Given the description of an element on the screen output the (x, y) to click on. 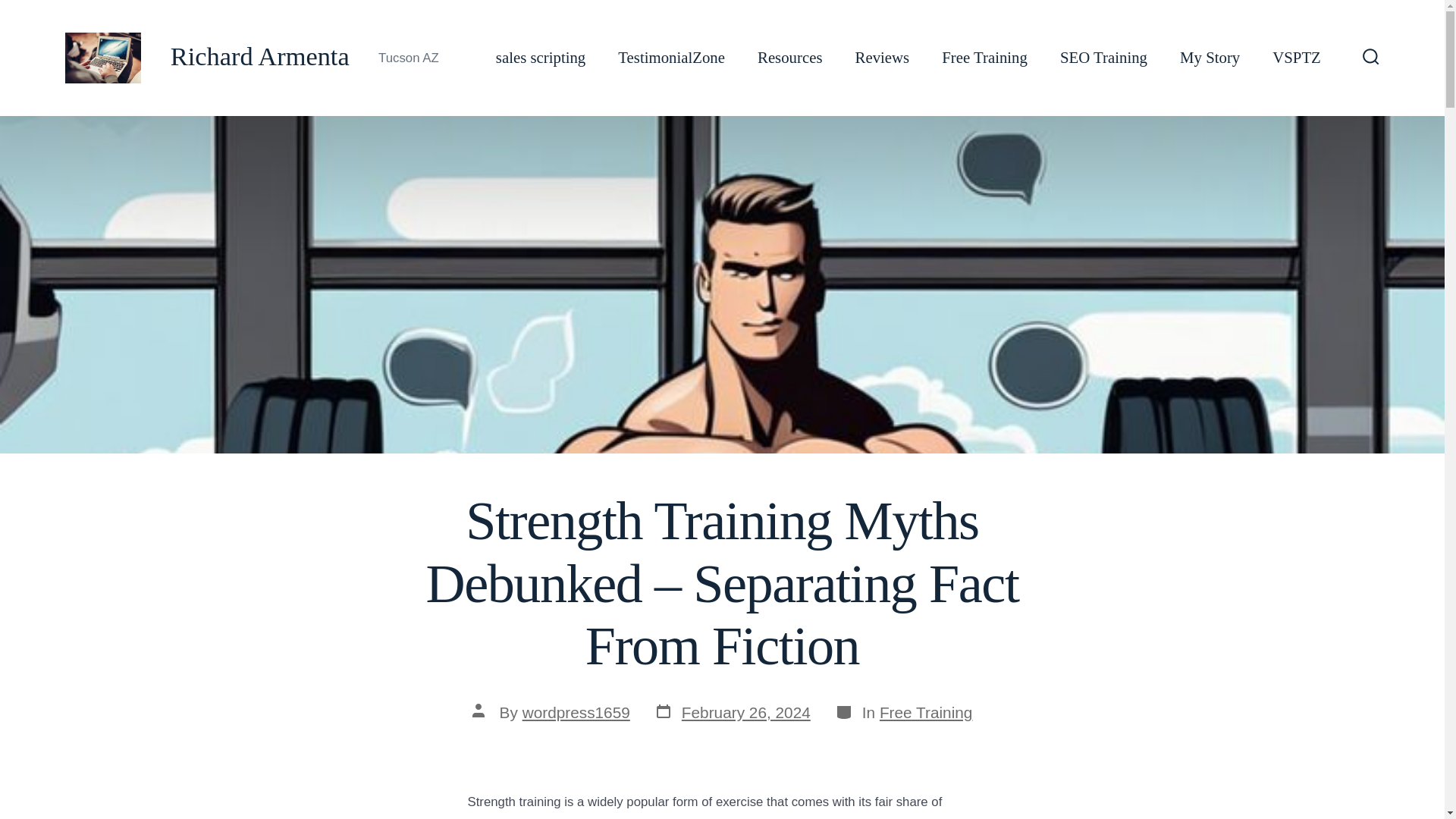
Free Training (925, 712)
sales scripting (731, 712)
My Story (540, 57)
VSPTZ (1209, 57)
wordpress1659 (1296, 57)
TestimonialZone (576, 712)
Reviews (671, 57)
SEO Training (883, 57)
Free Training (1103, 57)
